Given the description of an element on the screen output the (x, y) to click on. 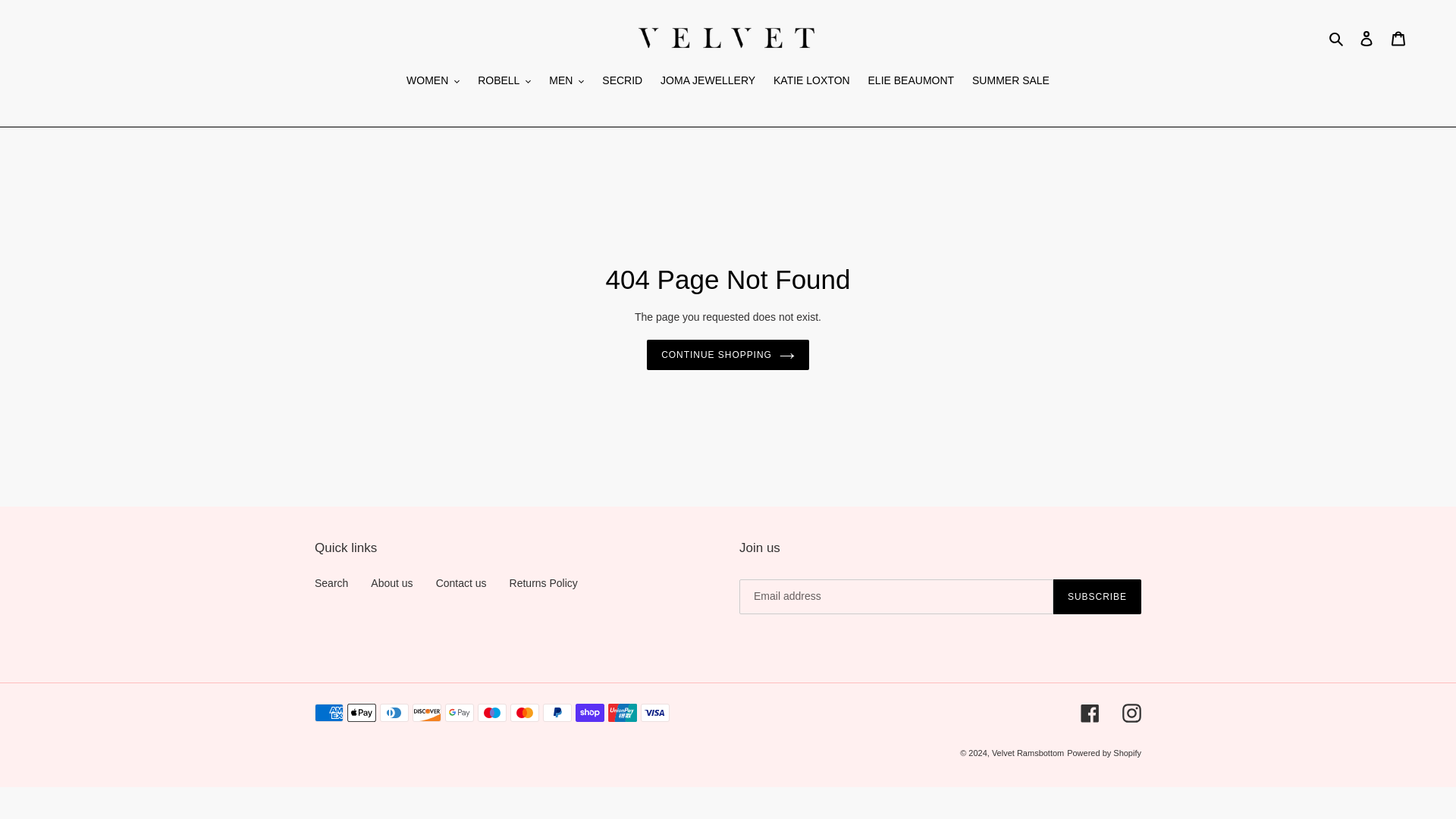
Log in (1366, 38)
Cart (1397, 38)
Search (1337, 37)
